Given the description of an element on the screen output the (x, y) to click on. 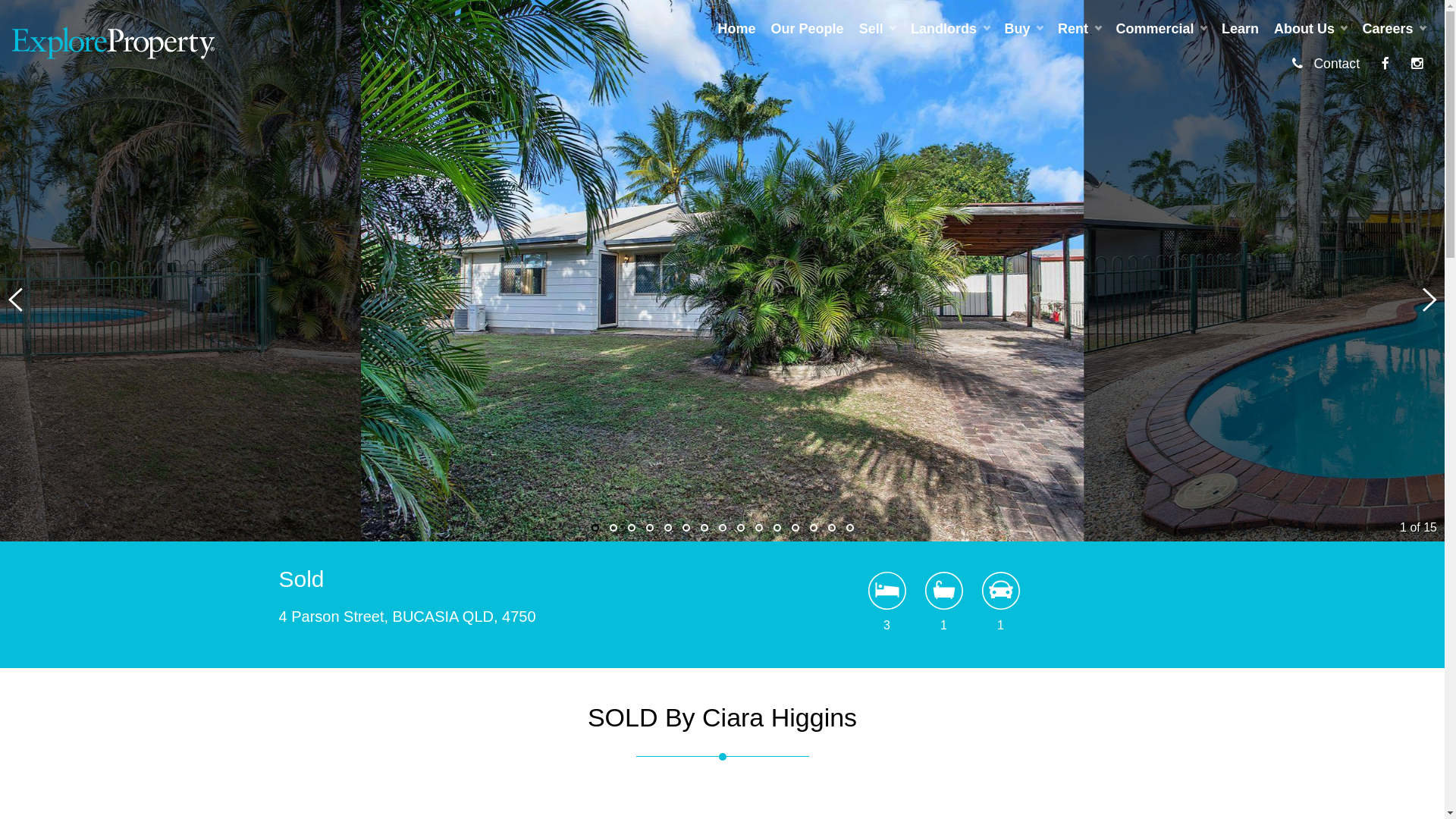
Rent Element type: text (1078, 29)
About Us Element type: text (1310, 29)
Learn Element type: text (1240, 29)
Buy Element type: text (1023, 29)
Home Element type: text (736, 29)
Commercial Element type: text (1161, 29)
Sell Element type: text (877, 29)
Our People Element type: text (807, 29)
Landlords Element type: text (949, 29)
Careers Element type: text (1393, 29)
Contact Element type: text (1325, 64)
